Given the description of an element on the screen output the (x, y) to click on. 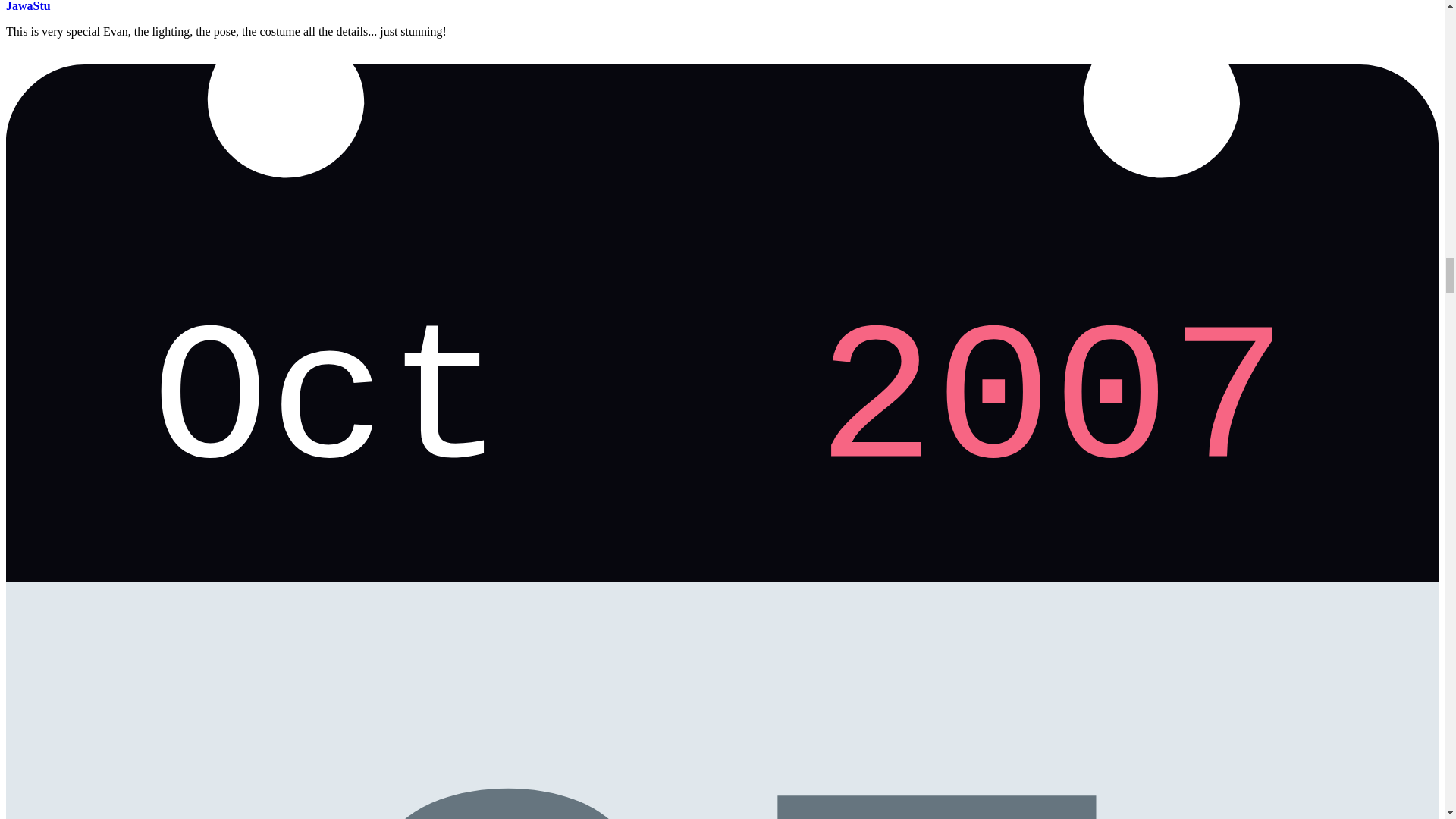
View user profile. (27, 6)
JawaStu (27, 6)
